Given the description of an element on the screen output the (x, y) to click on. 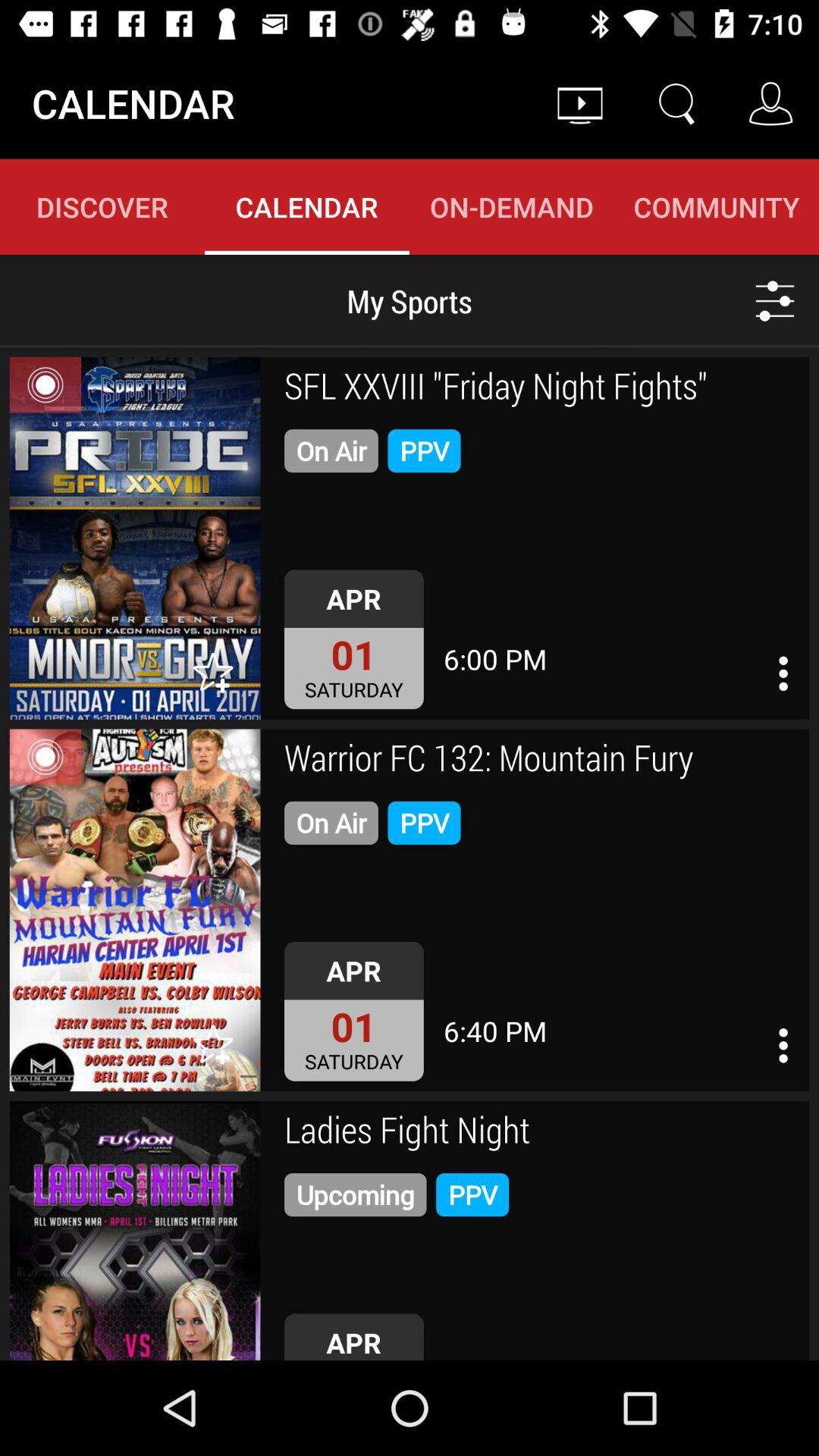
launch the icon above the community icon (675, 103)
